Given the description of an element on the screen output the (x, y) to click on. 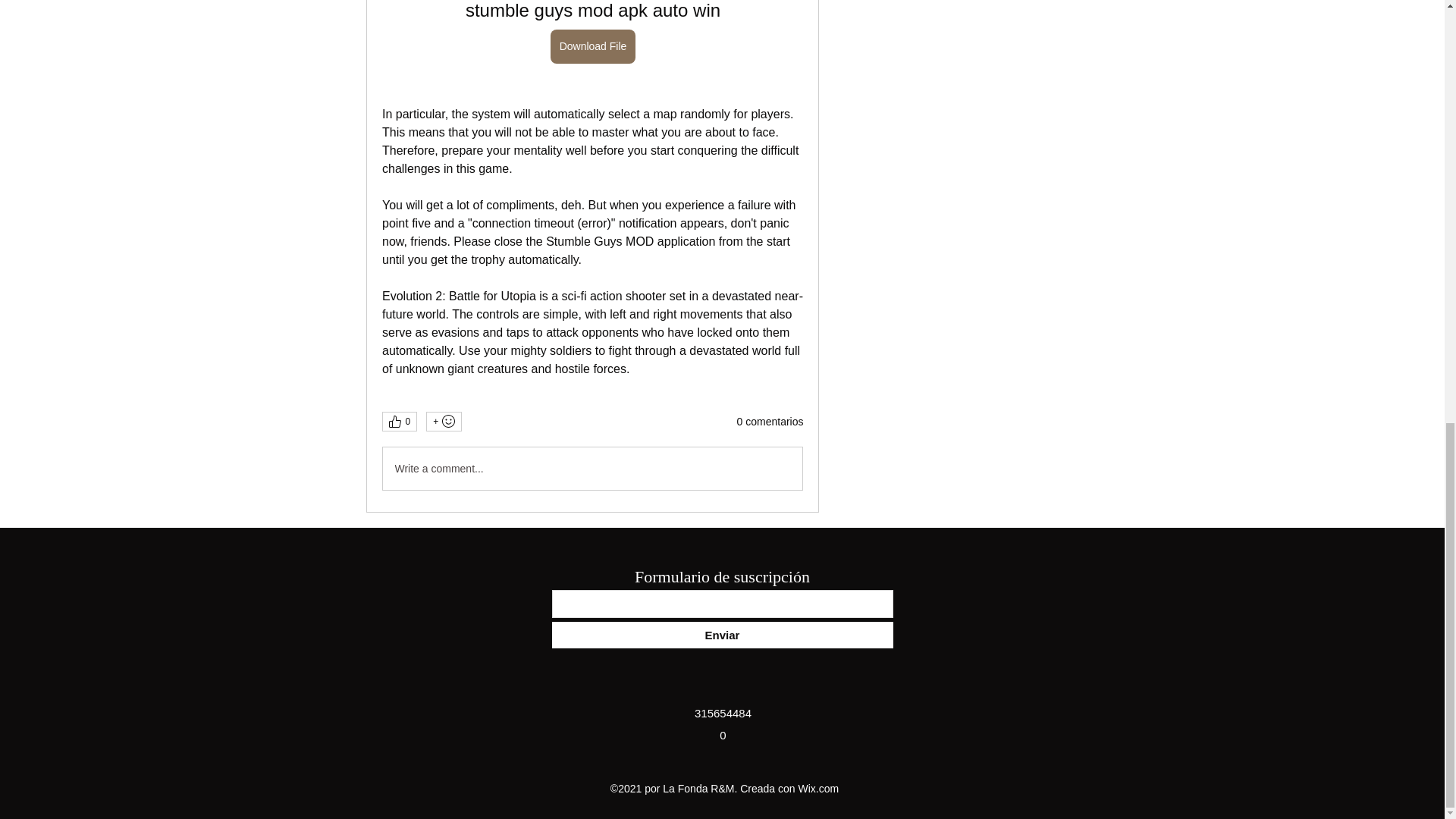
0 comentarios (769, 421)
Write a comment... (591, 468)
Download File (592, 46)
